Given the description of an element on the screen output the (x, y) to click on. 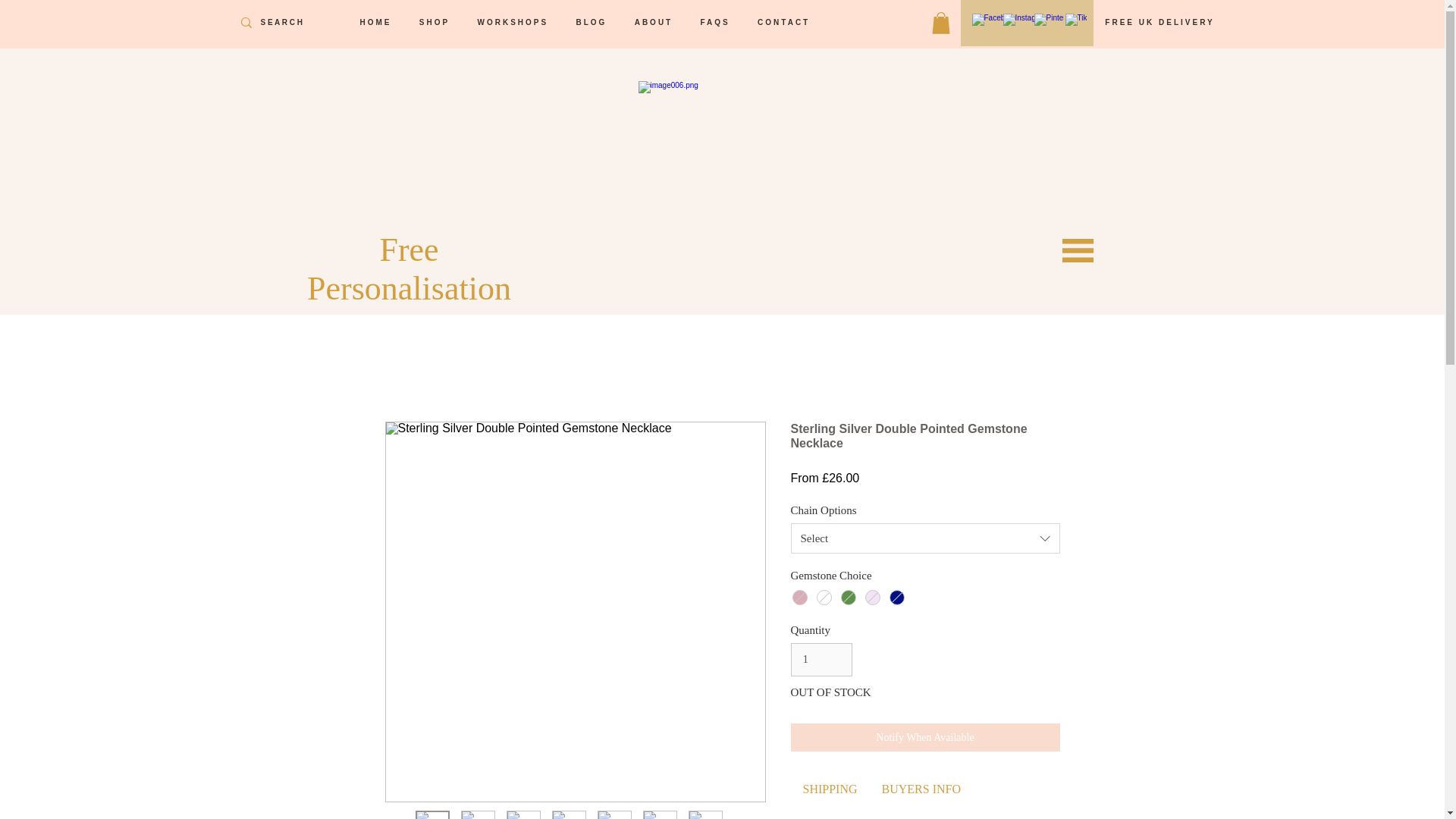
HOME (378, 22)
Use right and left arrows to navigate between tabs (920, 789)
BLOG (593, 22)
1 (820, 659)
WORKSHOPS (515, 22)
CONTACT (786, 22)
SHOP (438, 22)
Notify When Available (924, 737)
Use right and left arrows to navigate between tabs (829, 789)
ABOUT (657, 22)
FAQS (718, 22)
Select (924, 538)
